Given the description of an element on the screen output the (x, y) to click on. 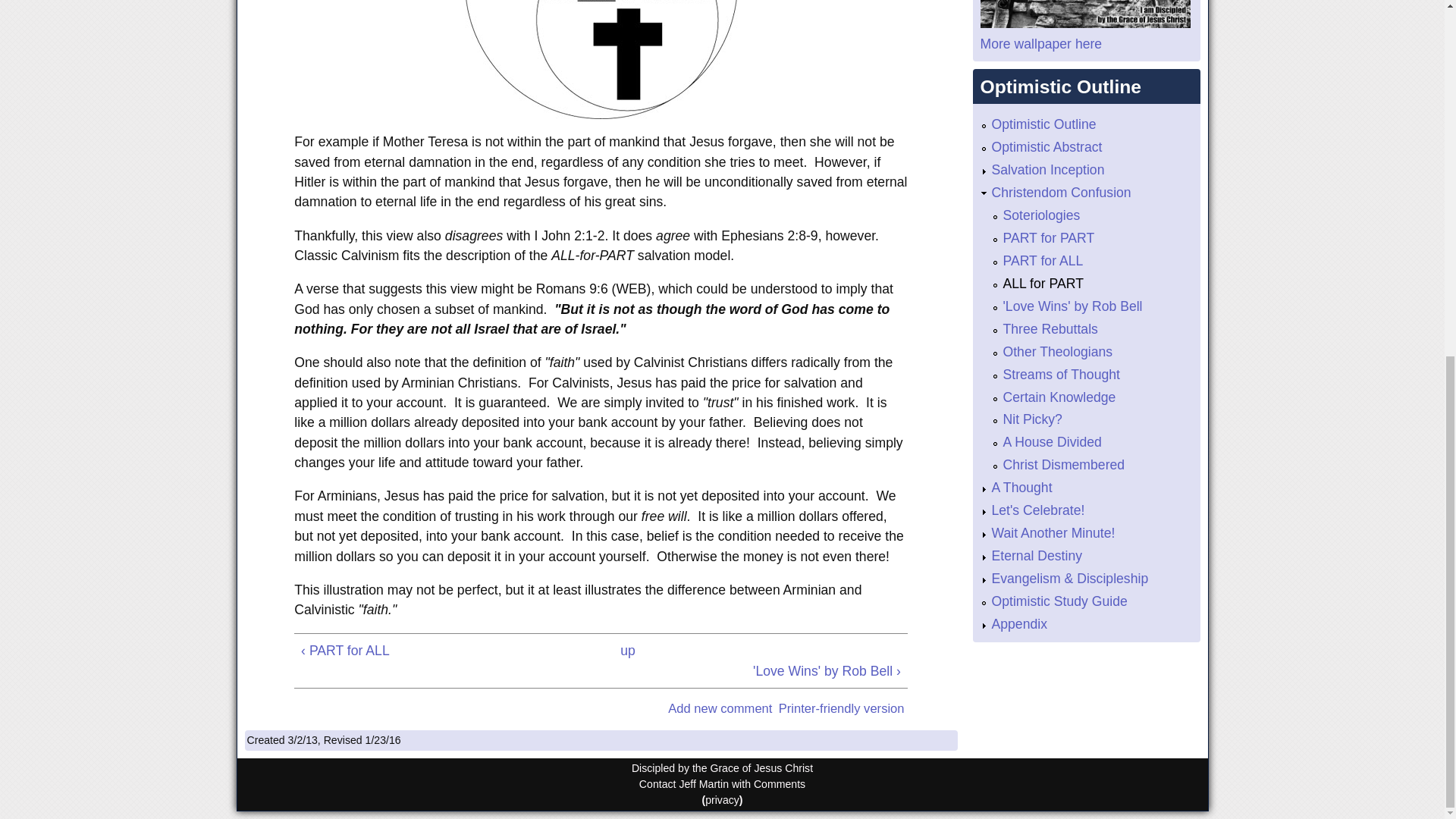
Go to previous page (420, 650)
Optimistic Abstract (1046, 146)
'Love Wins' by Rob Bell (1072, 305)
Printer-friendly version (841, 708)
Other Theologians (1057, 351)
Three Rebuttals (1050, 328)
PART for PART (1048, 237)
Share your thoughts and opinions related to this posting. (719, 708)
Go to parent page (627, 650)
Optimistic Outline (1043, 124)
Salvation Inception (1048, 169)
Go to next page (781, 670)
Soteriologies (1041, 215)
More wallpaper here (1040, 43)
PART for ALL (1043, 260)
